Given the description of an element on the screen output the (x, y) to click on. 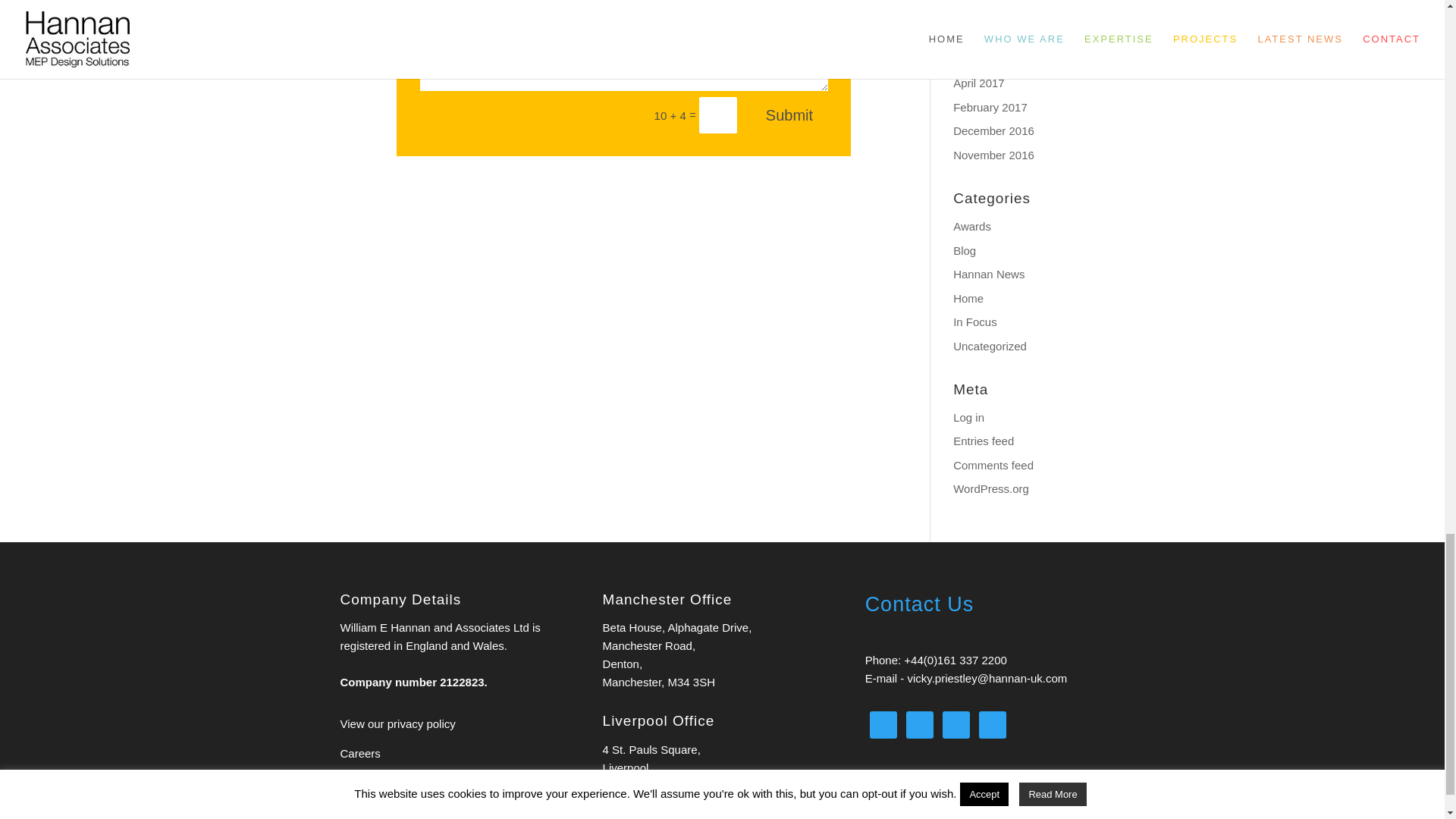
Submit (789, 115)
